Given the description of an element on the screen output the (x, y) to click on. 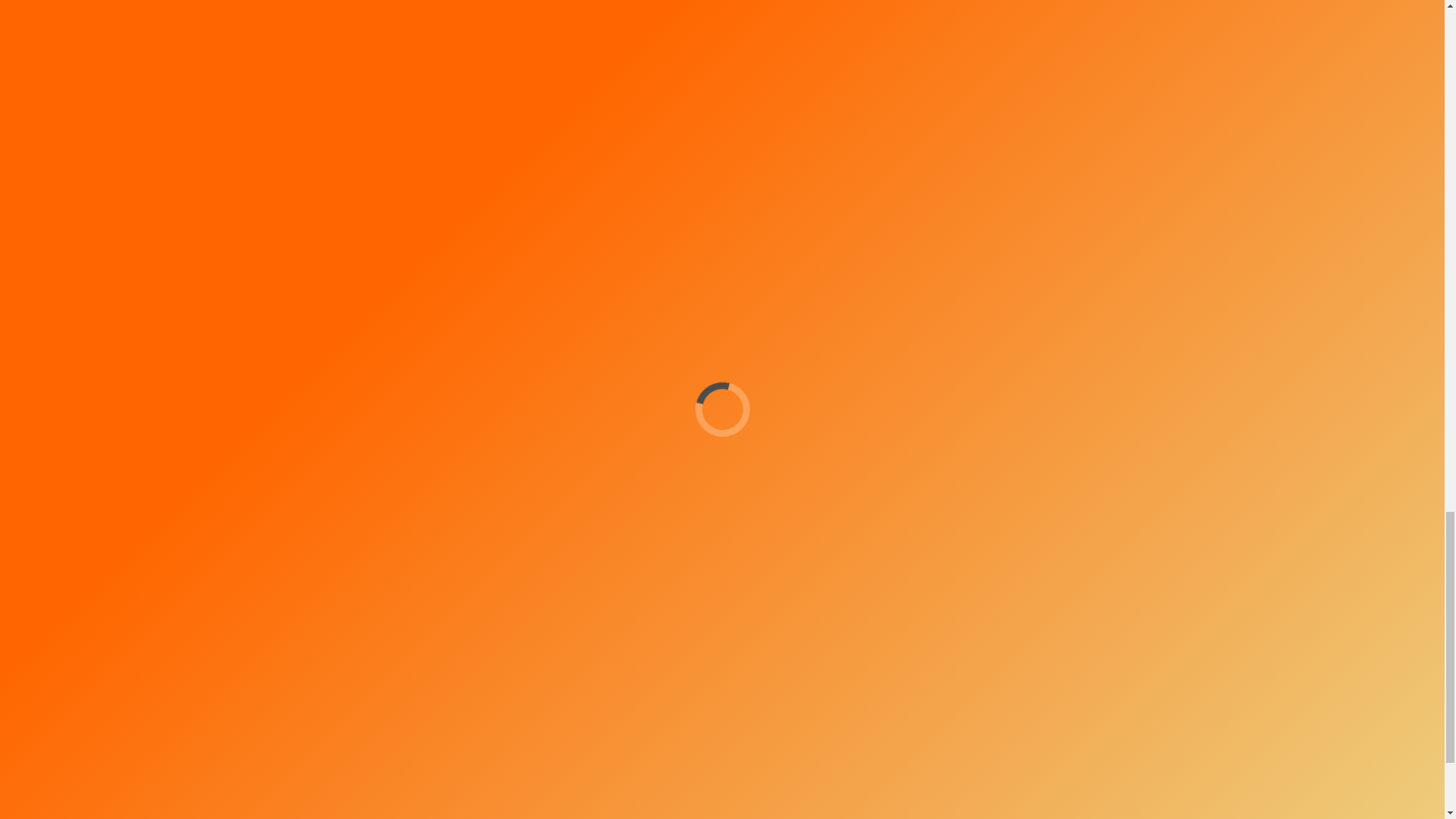
Facebook (854, 661)
Instagram (823, 661)
Go! (921, 606)
Go! (921, 606)
Contact Us (1025, 796)
